Given the description of an element on the screen output the (x, y) to click on. 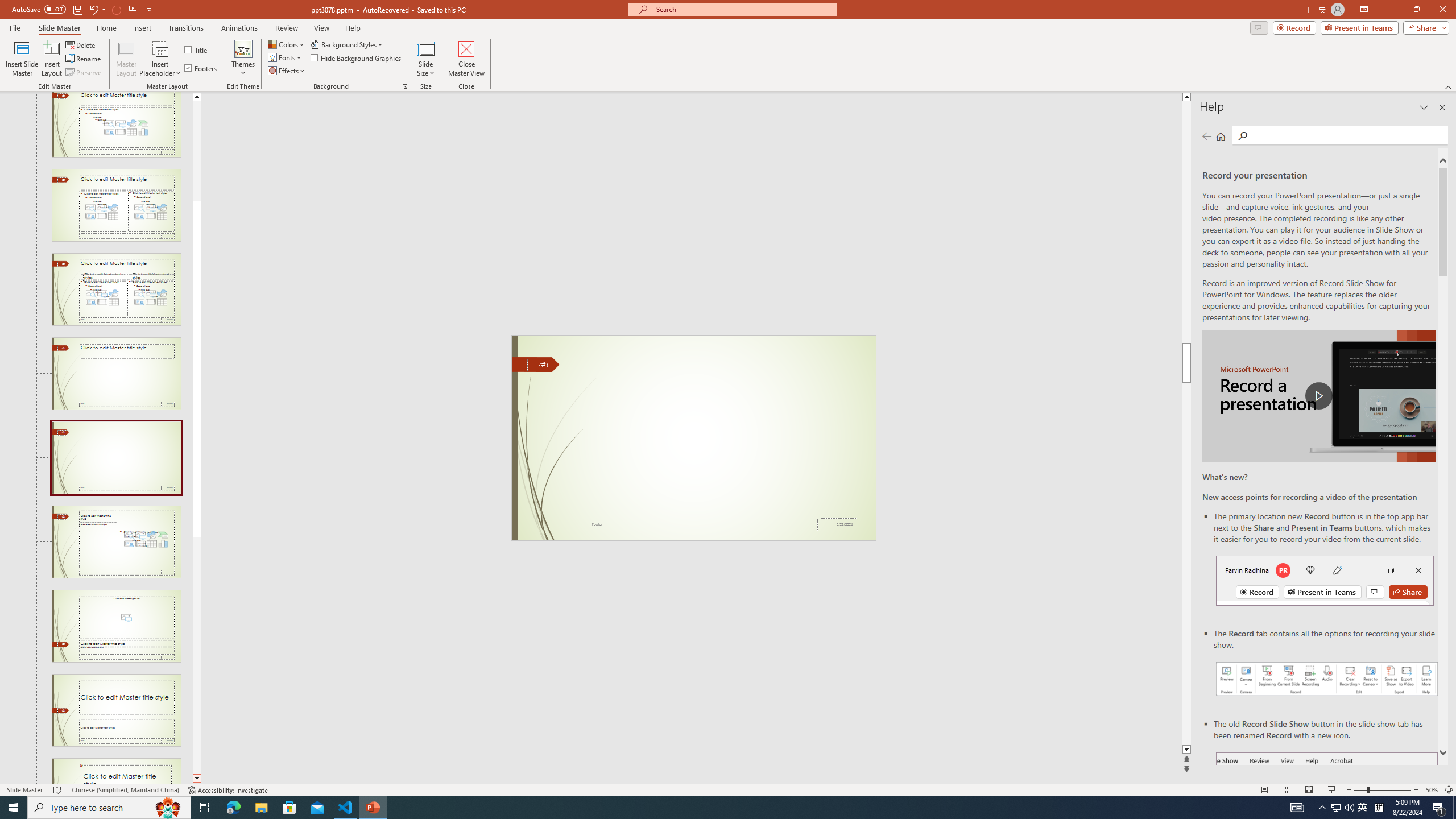
Slide Content with Caption Layout: used by no slides (116, 542)
Animations (239, 28)
Insert Placeholder (160, 58)
Search (1347, 135)
Normal (1263, 790)
Search (1241, 136)
View (322, 28)
Close pane (1441, 107)
Record your presentations screenshot one (1326, 678)
Microsoft search (742, 9)
Spell Check No Errors (57, 790)
Slide Two Content Layout: used by no slides (116, 204)
Share (1423, 27)
Hide Background Graphics (356, 56)
Master Layout... (126, 58)
